Given the description of an element on the screen output the (x, y) to click on. 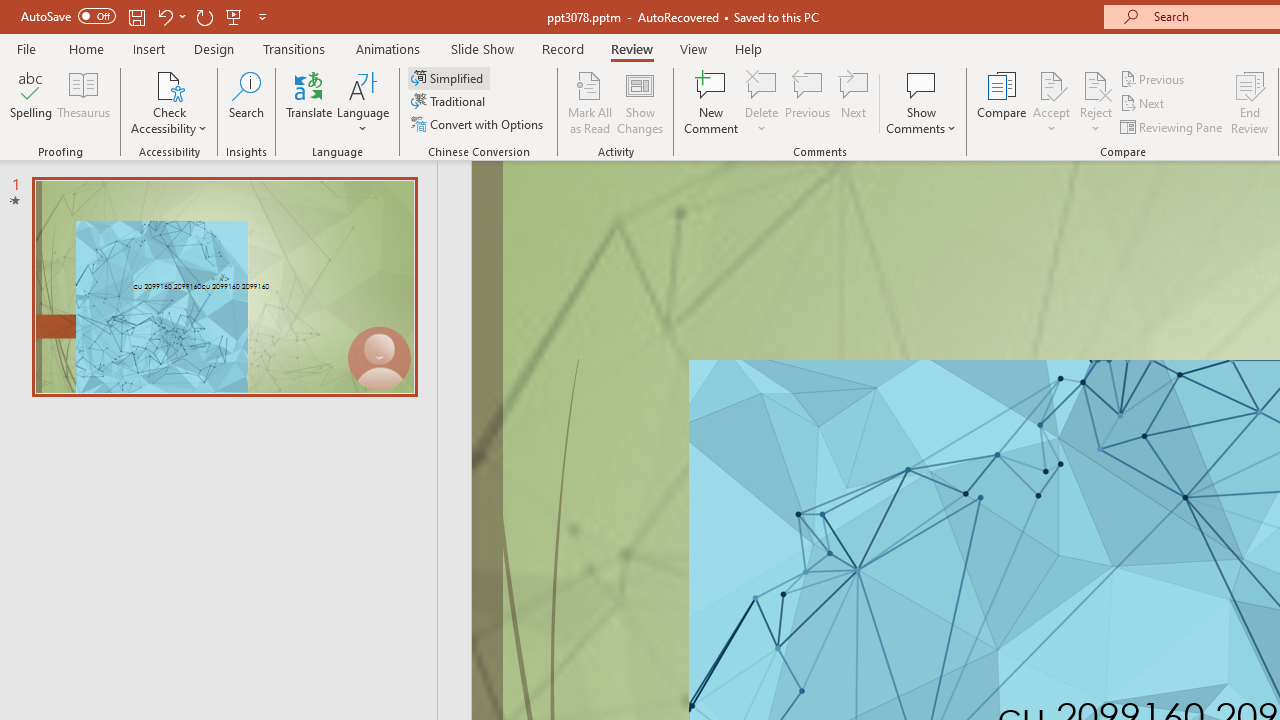
Compare (1002, 102)
